Given the description of an element on the screen output the (x, y) to click on. 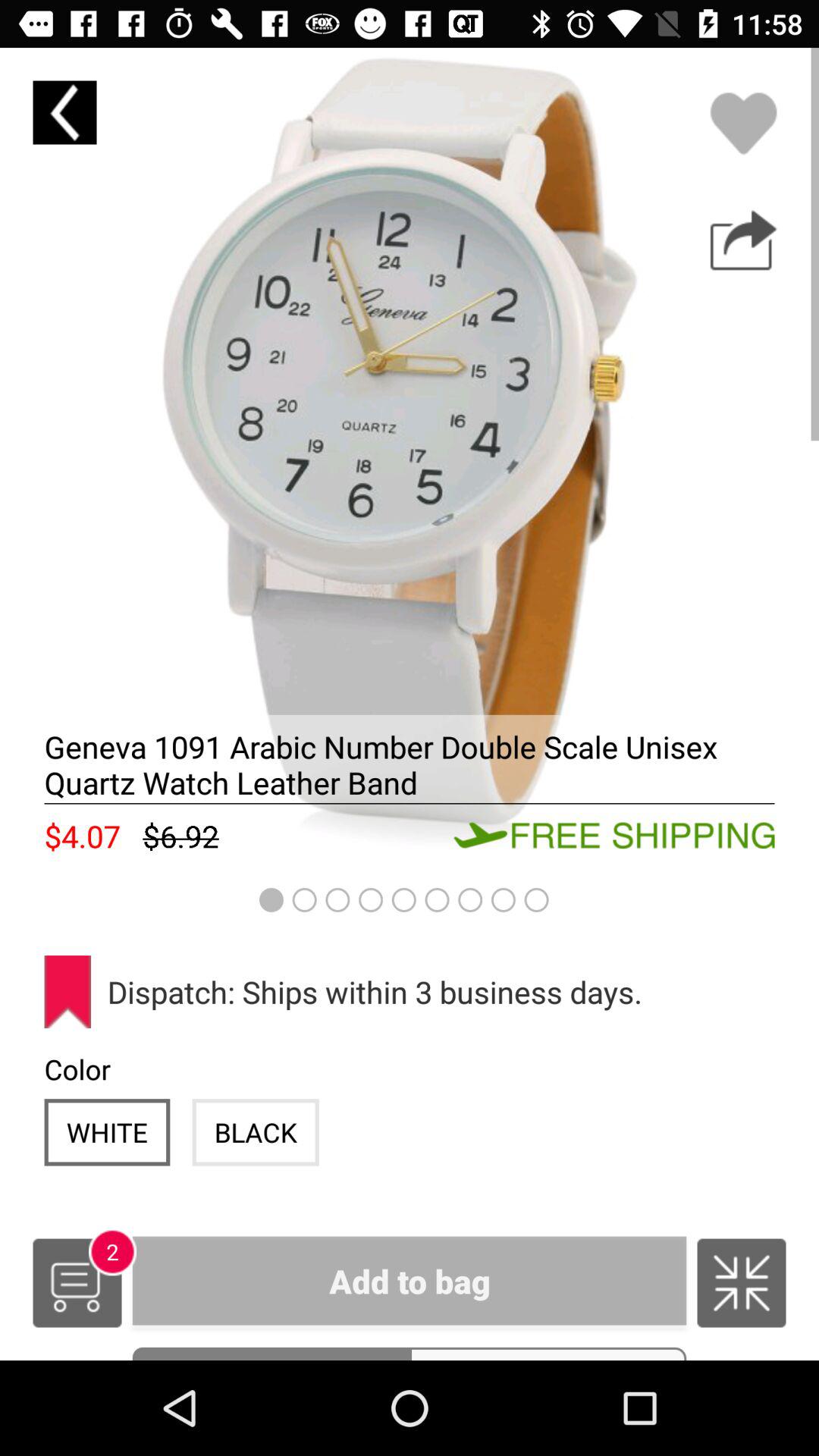
item selected (409, 456)
